Given the description of an element on the screen output the (x, y) to click on. 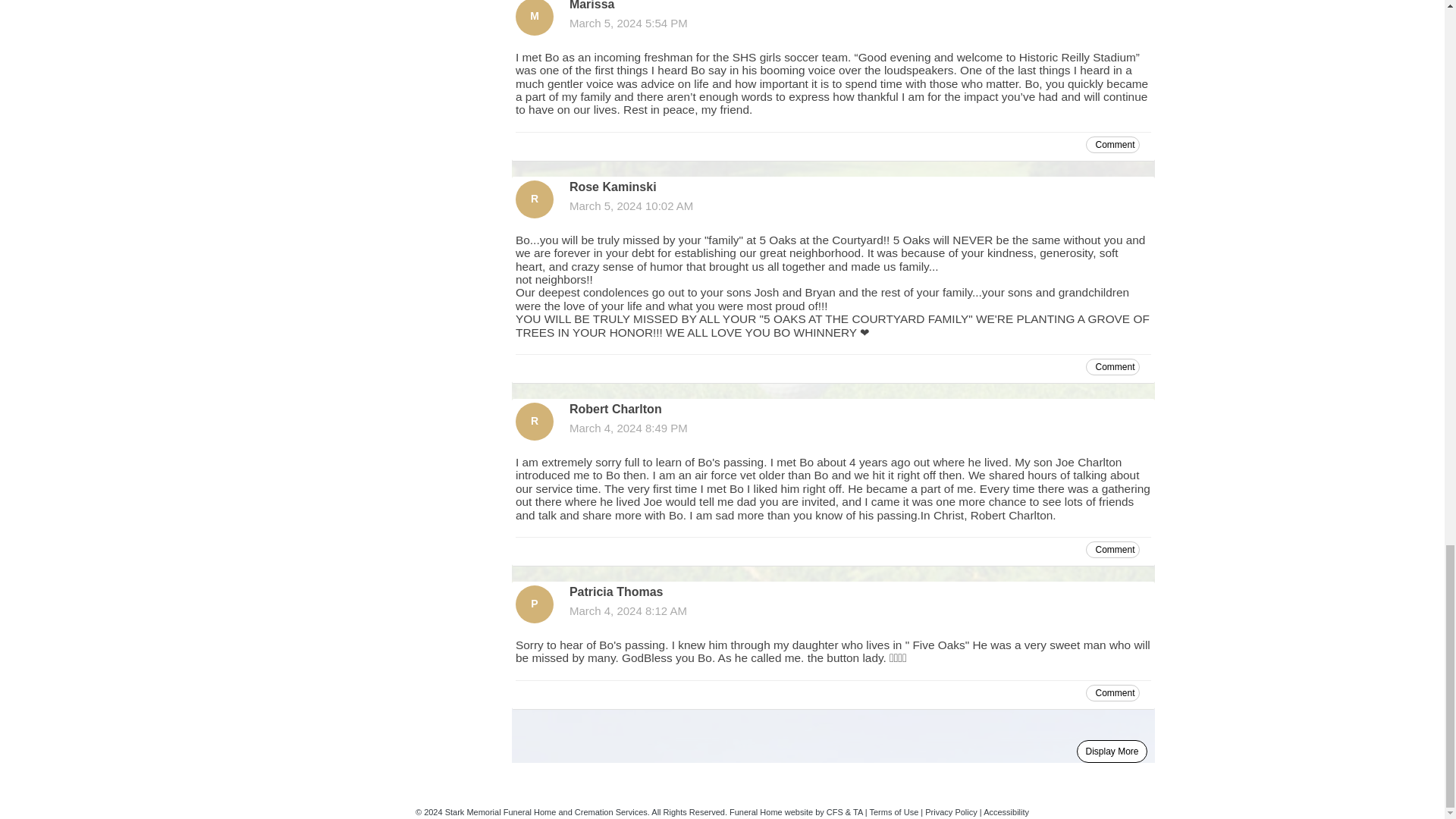
Robert Charlton (534, 421)
  Comment (1113, 692)
  Comment (1113, 144)
Patricia Thomas (534, 604)
Display More (1112, 751)
Rose Kaminski (534, 199)
  Comment (1113, 549)
  Comment (1113, 366)
Marissa (534, 18)
